Given the description of an element on the screen output the (x, y) to click on. 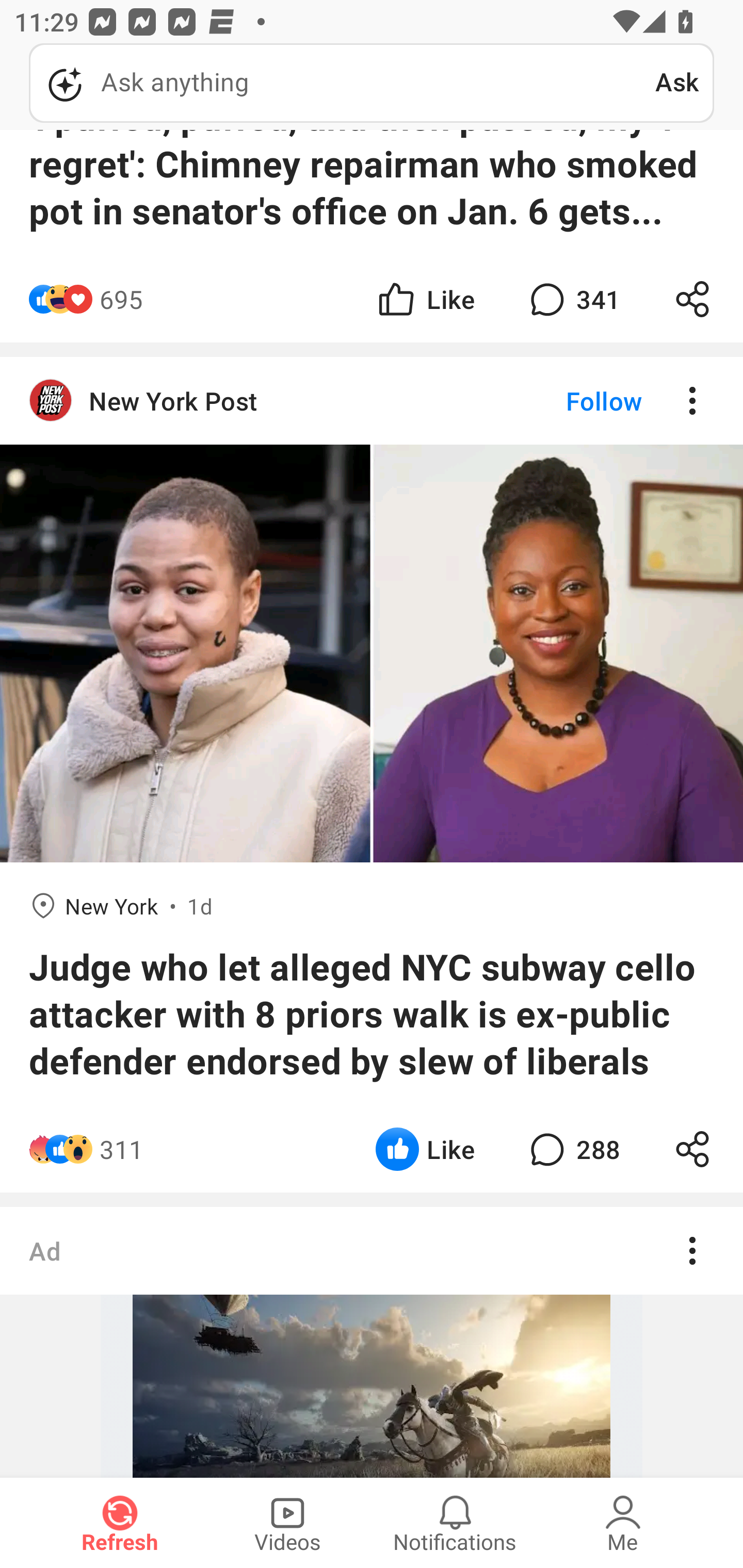
Ask anything (341, 82)
695 (121, 298)
Like (425, 298)
341 (572, 298)
New York Post Follow (371, 401)
Follow (569, 401)
311 (121, 1149)
Like (425, 1149)
288 (572, 1149)
Videos (287, 1522)
Notifications (455, 1522)
Me (622, 1522)
